Given the description of an element on the screen output the (x, y) to click on. 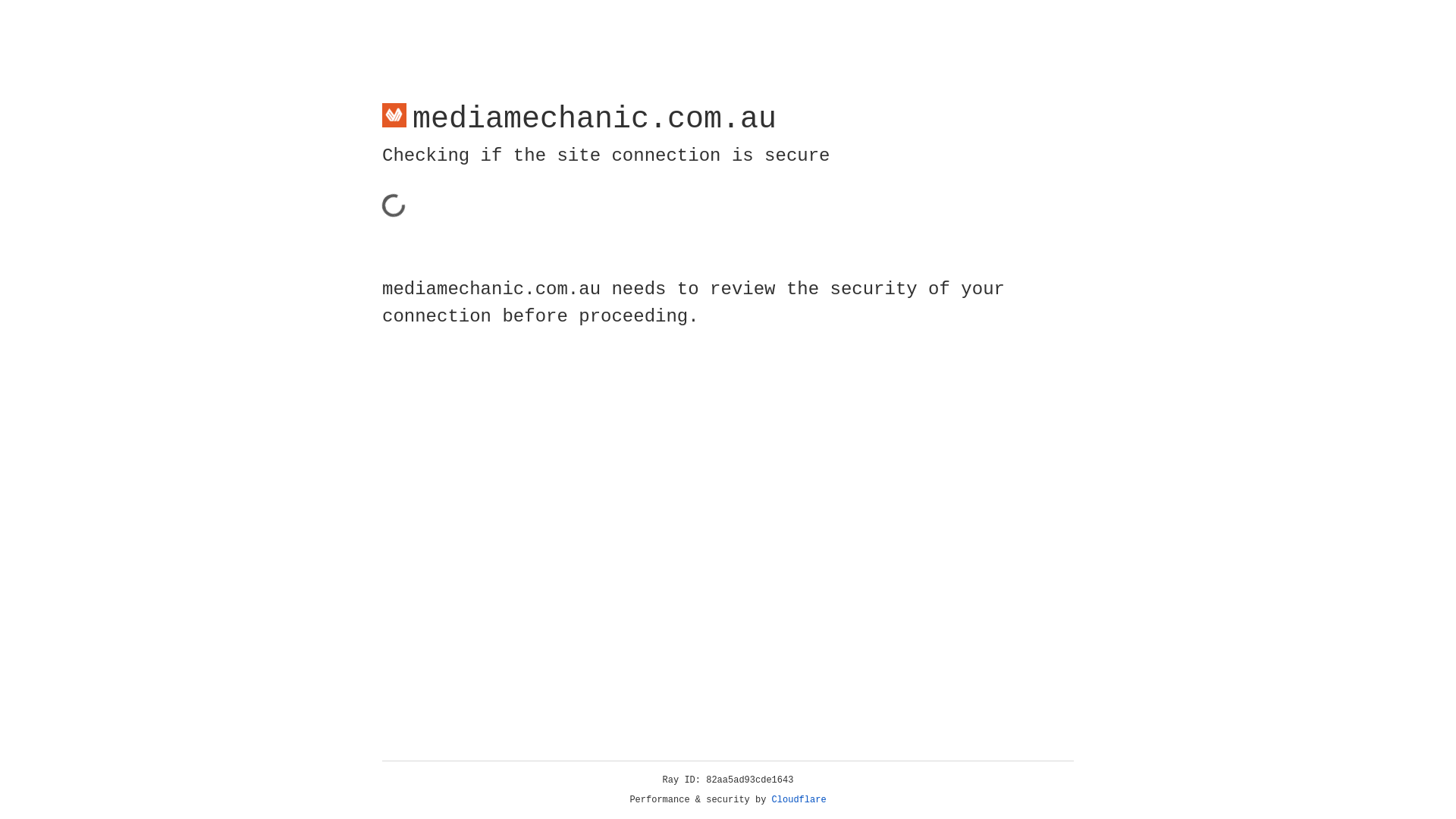
Cloudflare Element type: text (798, 799)
